Given the description of an element on the screen output the (x, y) to click on. 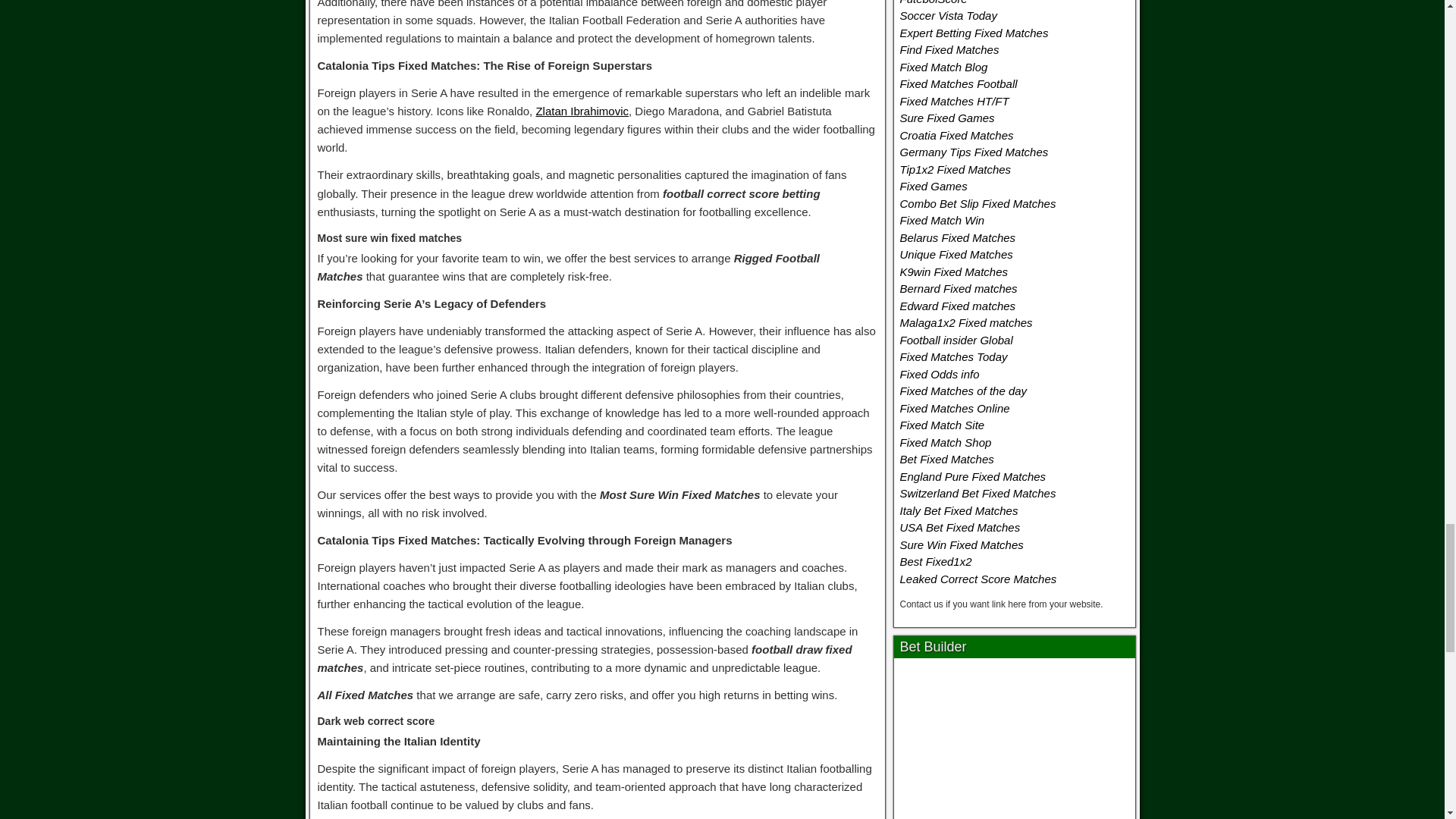
Bet Builder Bet365 Bookie (1014, 741)
Zlatan Ibrahimovic (581, 110)
